Given the description of an element on the screen output the (x, y) to click on. 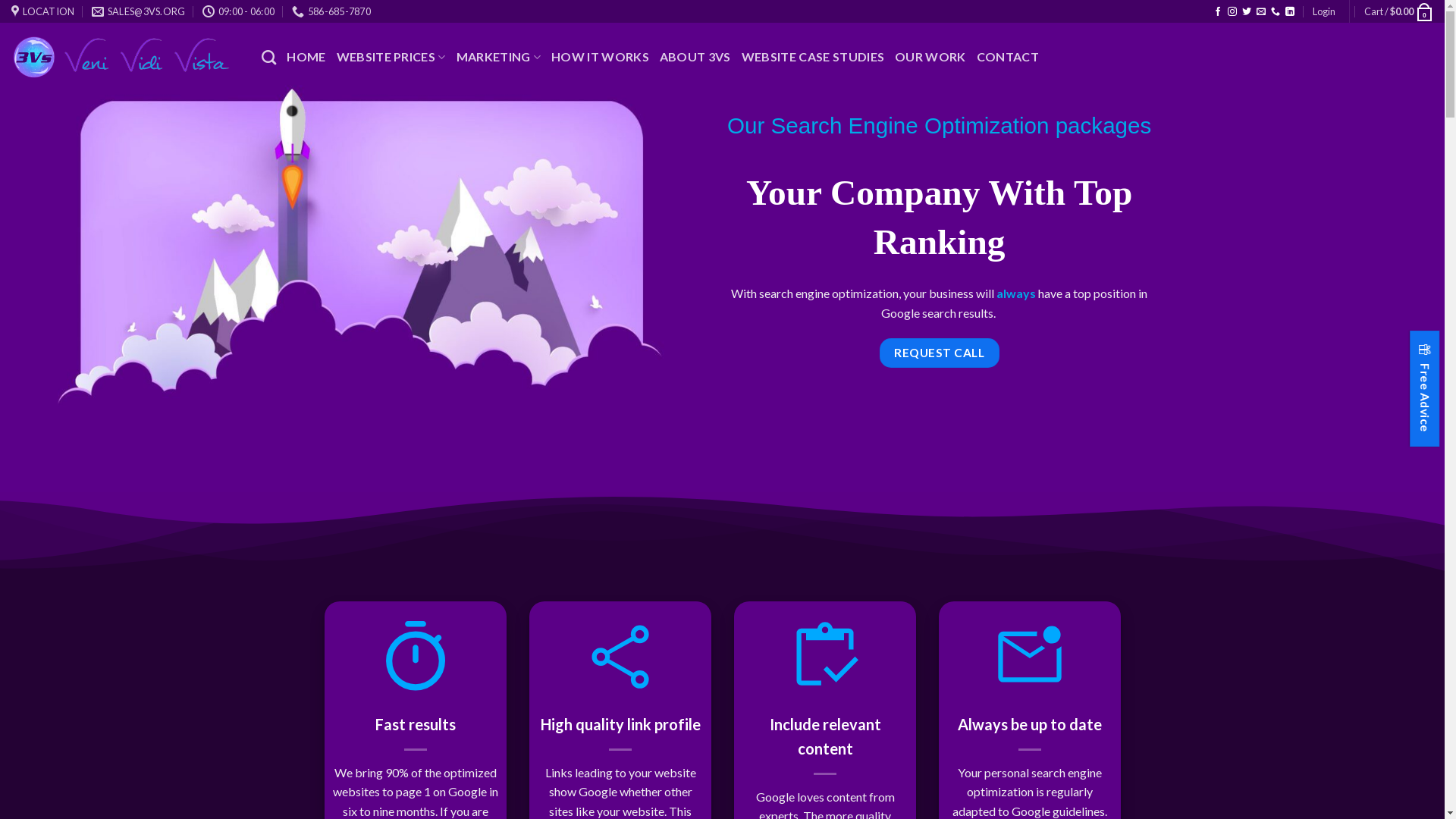
REQUEST CALL Element type: text (939, 352)
Follow on Facebook Element type: hover (1217, 11)
09:00 - 06:00 Element type: text (238, 11)
HOME Element type: text (305, 56)
Cart / $0.00
0 Element type: text (1398, 11)
3VS - Fast and Affordable Full Service Websites Element type: hover (124, 56)
OUR WORK Element type: text (930, 56)
Send us an email Element type: hover (1260, 11)
ABOUT 3VS Element type: text (695, 56)
HOW IT WORKS Element type: text (600, 56)
Follow on LinkedIn Element type: hover (1289, 11)
WEBSITE PRICES Element type: text (390, 57)
Follow on Instagram Element type: hover (1231, 11)
WEBSITE CASE STUDIES Element type: text (812, 56)
Call us Element type: hover (1275, 11)
Login Element type: text (1323, 11)
586-685-7870 Element type: text (330, 11)
MARKETING Element type: text (498, 57)
CONTACT Element type: text (1007, 56)
SALES@3VS.ORG Element type: text (138, 11)
Follow on Twitter Element type: hover (1246, 11)
LOCATION Element type: text (42, 11)
